Given the description of an element on the screen output the (x, y) to click on. 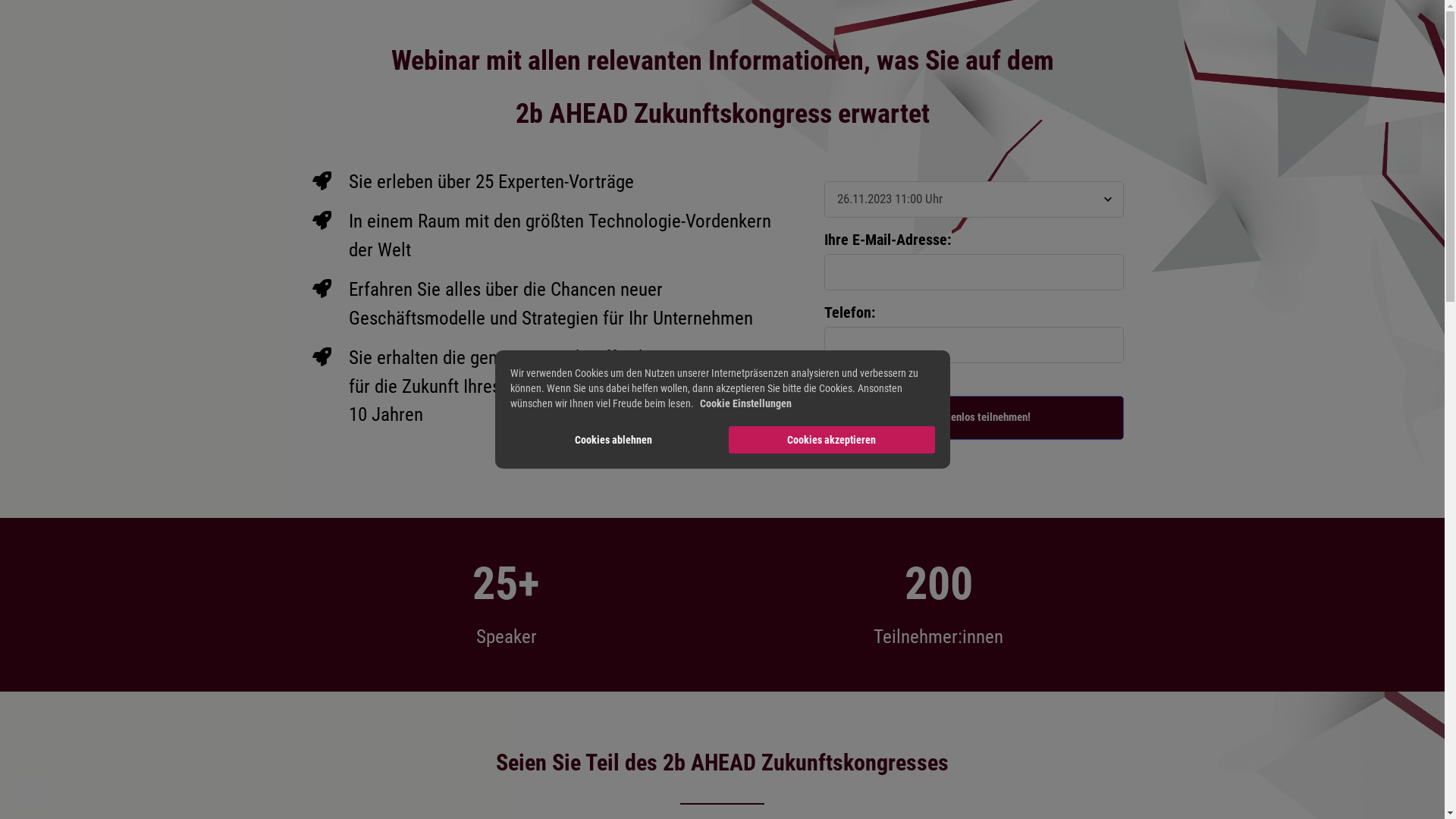
Cookie Einstellungen Element type: text (744, 403)
Cookies ablehnen Element type: text (612, 439)
Cookies akzeptieren Element type: text (831, 439)
Kostenlos teilnehmen! Element type: text (973, 417)
